Given the description of an element on the screen output the (x, y) to click on. 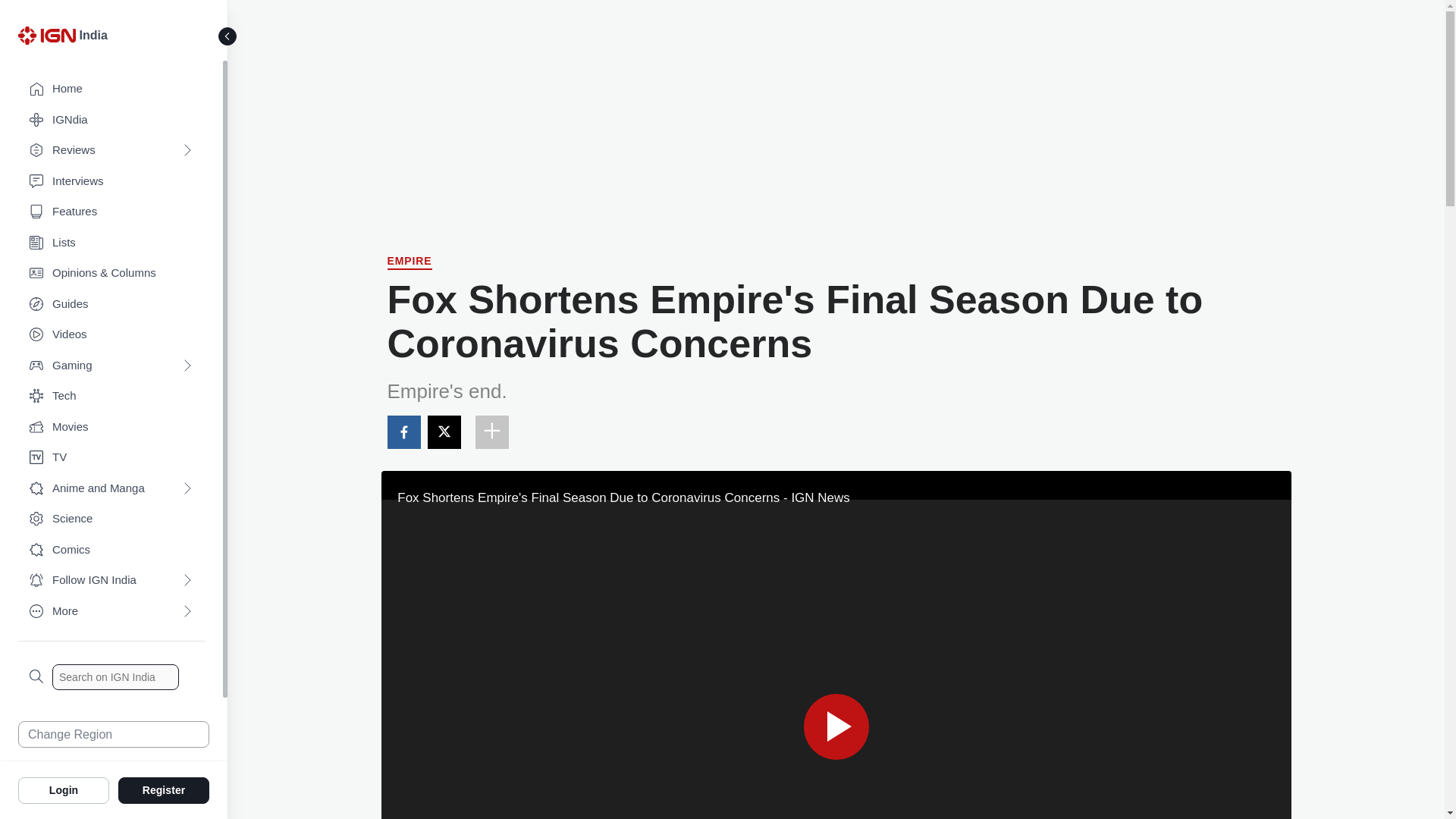
Guides (111, 304)
IGNdia (111, 119)
Toggle Sidebar (226, 36)
Lists (111, 242)
Gaming (111, 365)
Videos (111, 334)
Movies (111, 427)
IGN Logo (48, 39)
More (111, 610)
Empire (408, 262)
